Given the description of an element on the screen output the (x, y) to click on. 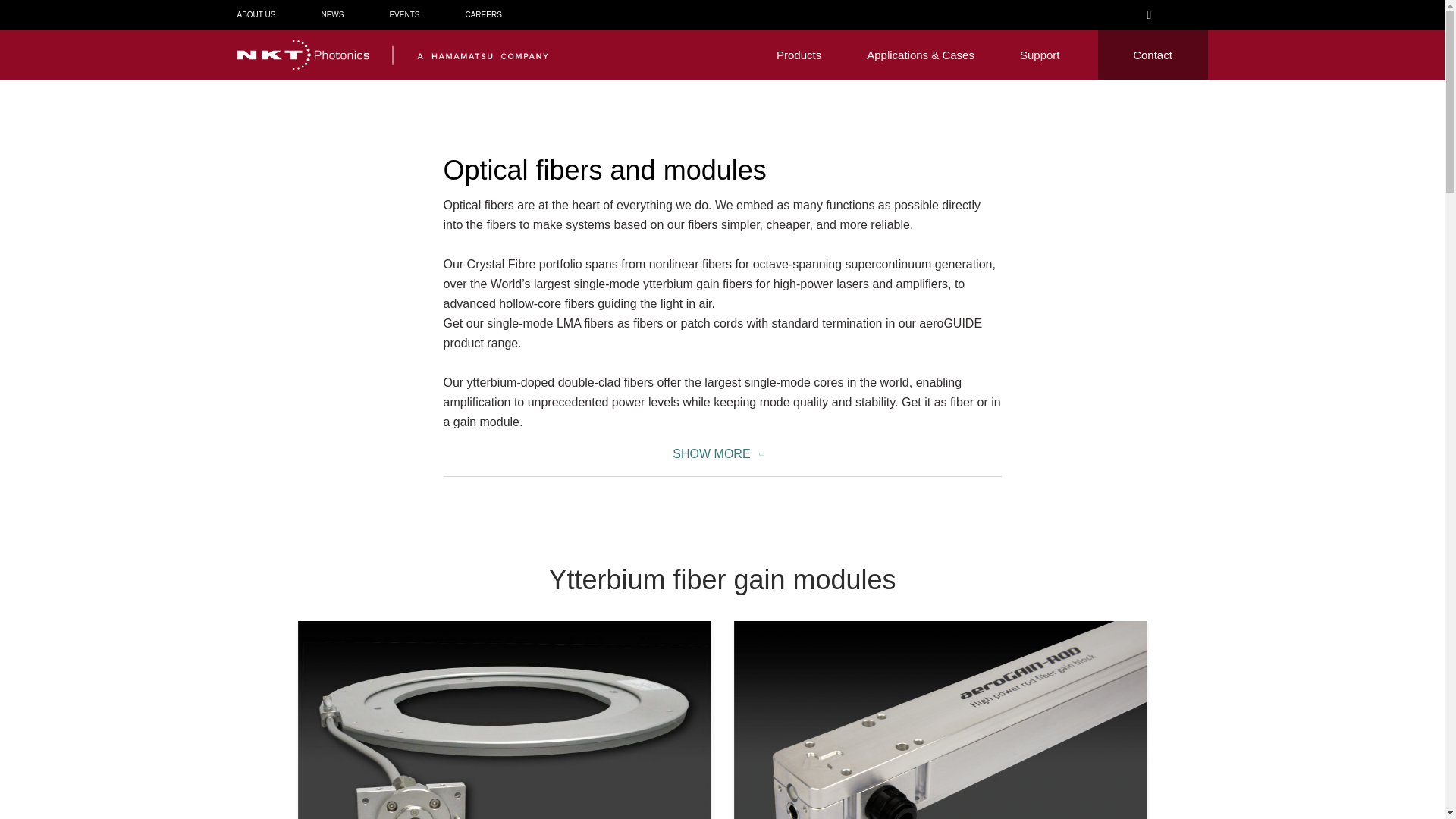
Products (798, 54)
CAREERS (482, 13)
Home (391, 54)
NEWS (331, 13)
EVENTS (403, 13)
toggle search (1151, 14)
ABOUT US (255, 13)
Skip to content (22, 23)
